Given the description of an element on the screen output the (x, y) to click on. 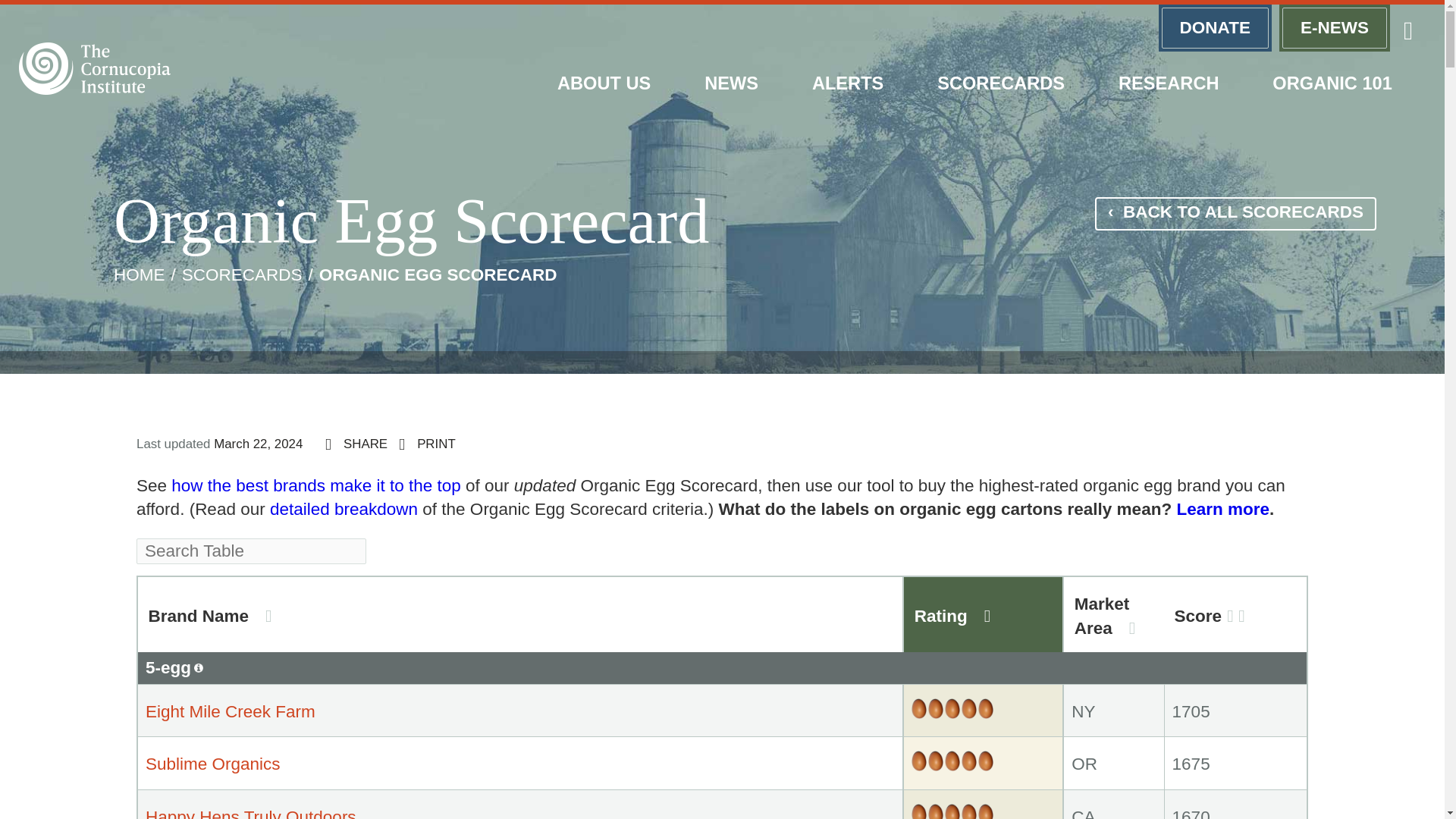
Go to Cornucopia Institute. (139, 274)
E-NEWS (1334, 27)
Cornucopia Institute (94, 68)
Rating (983, 614)
Go to Scorecards. (242, 274)
HOME (139, 274)
ALERTS (847, 83)
detailed breakdown (343, 508)
SHARE (355, 443)
Score (1234, 614)
PRINT (426, 443)
NEWS (732, 83)
ABOUT US (604, 83)
RESEARCH (1169, 83)
Market Area (1113, 614)
